Given the description of an element on the screen output the (x, y) to click on. 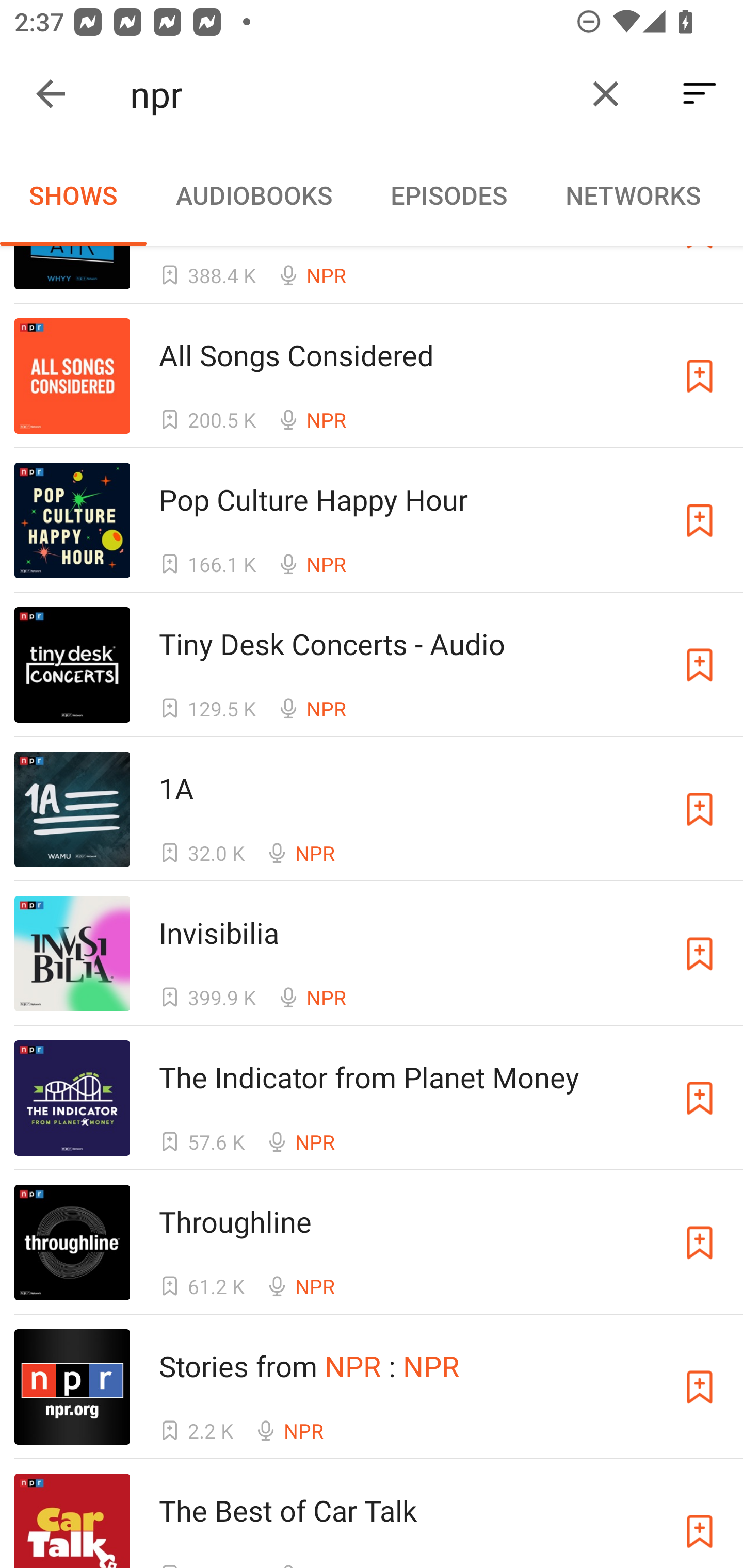
Collapse (50, 93)
Clear query (605, 93)
Sort By (699, 93)
npr (349, 94)
SHOWS (73, 195)
AUDIOBOOKS (253, 195)
EPISODES (448, 195)
NETWORKS (632, 195)
Subscribe (699, 376)
Subscribe (699, 520)
Subscribe (699, 664)
1A 1A  32.0 K  NPR Subscribe (371, 808)
Subscribe (699, 809)
Invisibilia Invisibilia  399.9 K  NPR Subscribe (371, 953)
Subscribe (699, 953)
Subscribe (699, 1097)
Throughline Throughline  61.2 K  NPR Subscribe (371, 1241)
Subscribe (699, 1242)
Subscribe (699, 1386)
Subscribe (699, 1520)
